Given the description of an element on the screen output the (x, y) to click on. 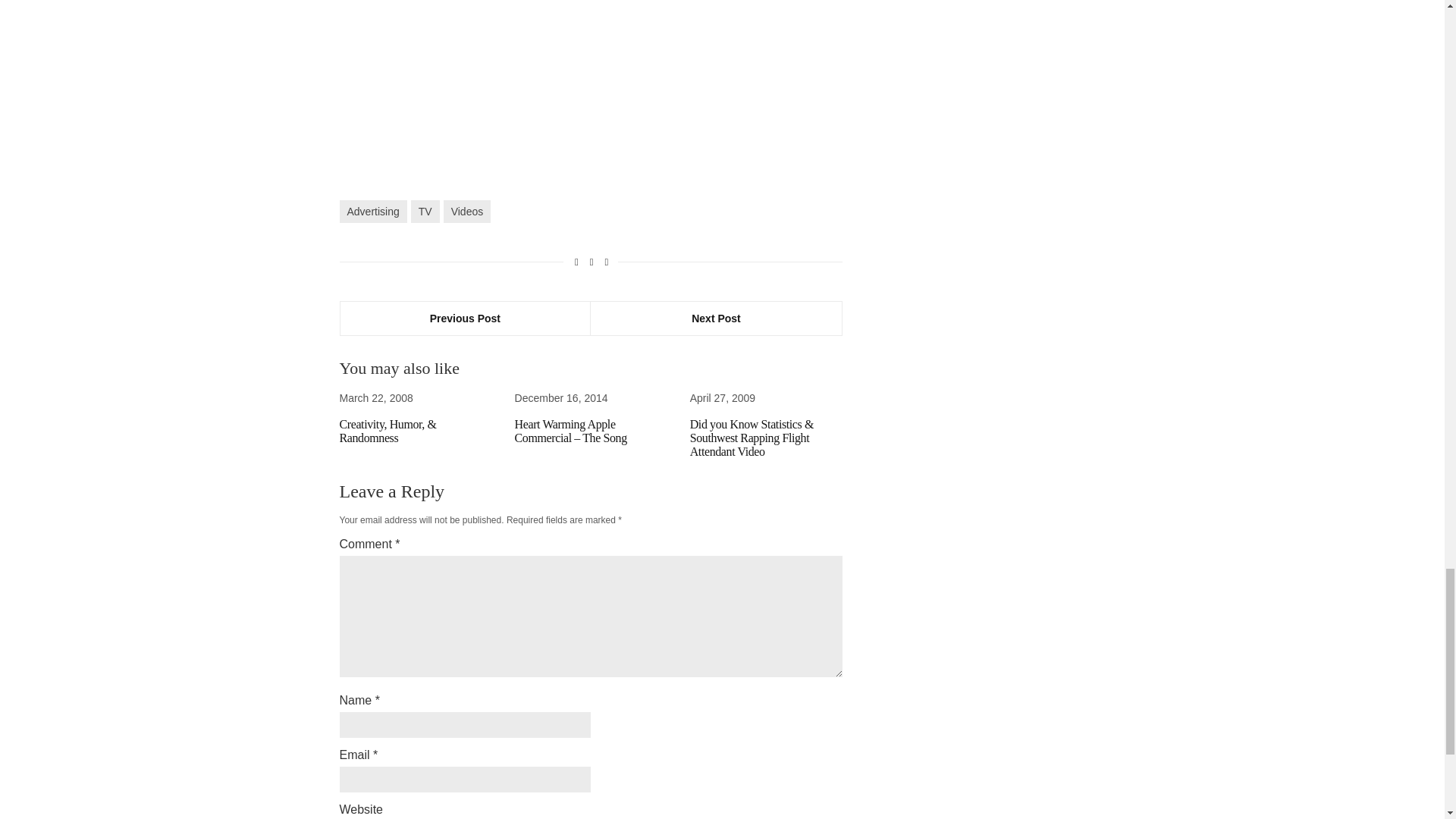
Advertising (373, 211)
Previous Post (465, 318)
Next Post (716, 318)
Videos (468, 211)
TV (424, 211)
